Given the description of an element on the screen output the (x, y) to click on. 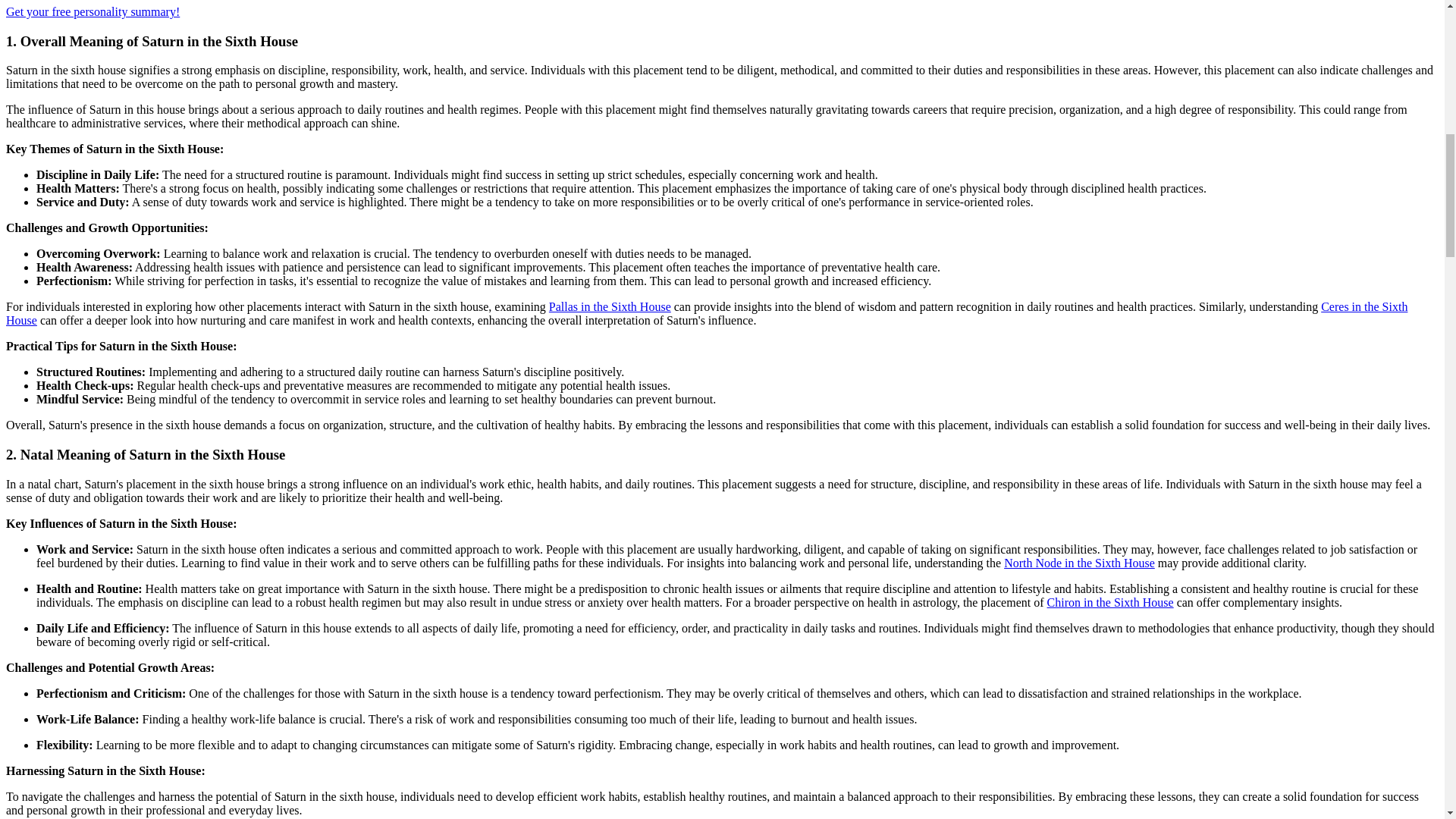
Pallas in the Sixth House (609, 306)
Chiron in the Sixth House (1109, 602)
Get your free personality summary! (92, 11)
North Node in the Sixth House (1079, 562)
Ceres in the Sixth House (706, 313)
